Given the description of an element on the screen output the (x, y) to click on. 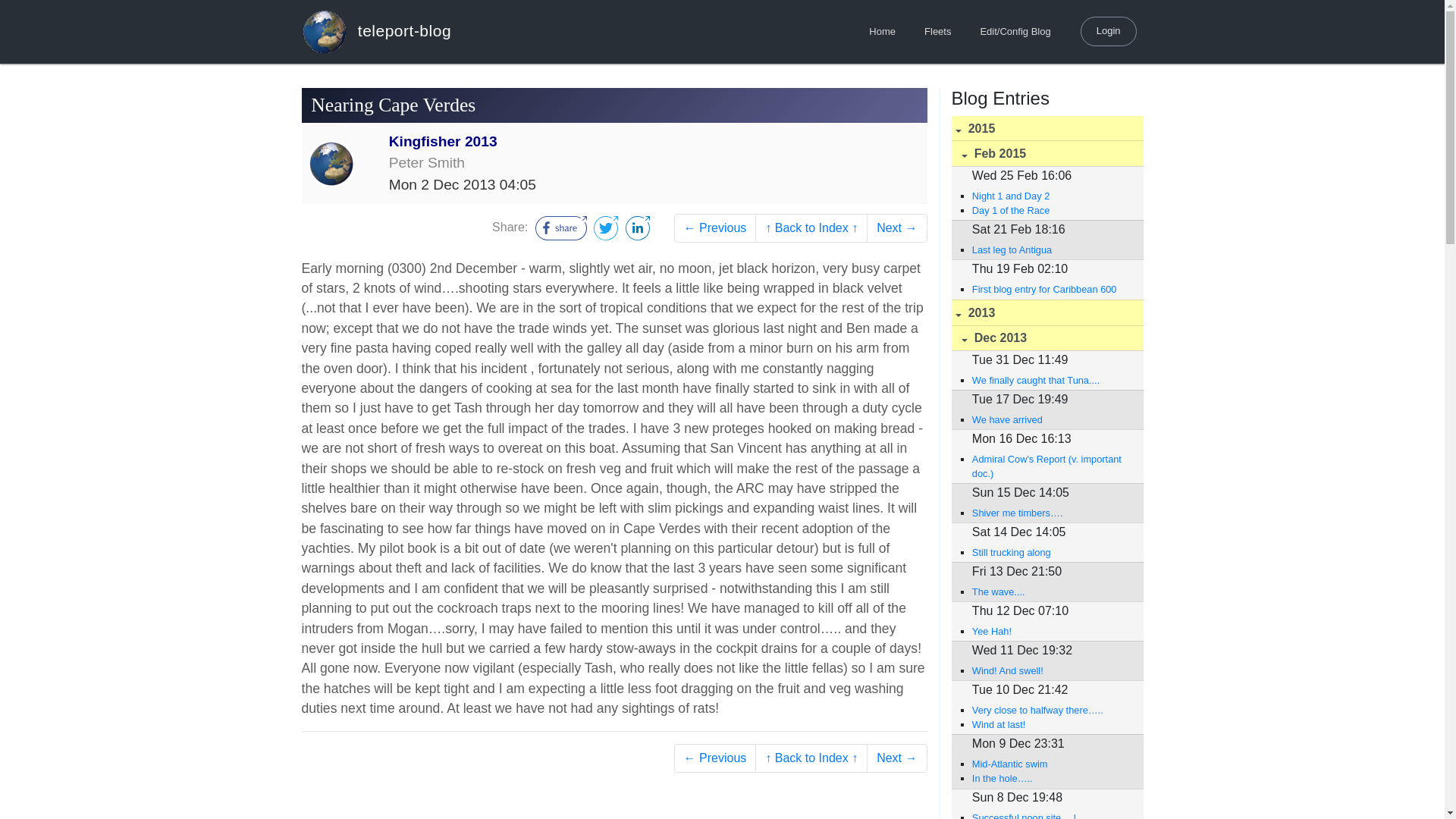
Last leg to Antigua (1050, 249)
Wind at last! (1050, 724)
Night 1 and Day 2 (1050, 196)
Dec 2013 (1046, 338)
2015 (1046, 128)
We finally caught that Tuna.... (1050, 380)
teleport-blog (376, 31)
We have arrived (1050, 419)
Login (1108, 30)
The wave.... (1050, 591)
